Given the description of an element on the screen output the (x, y) to click on. 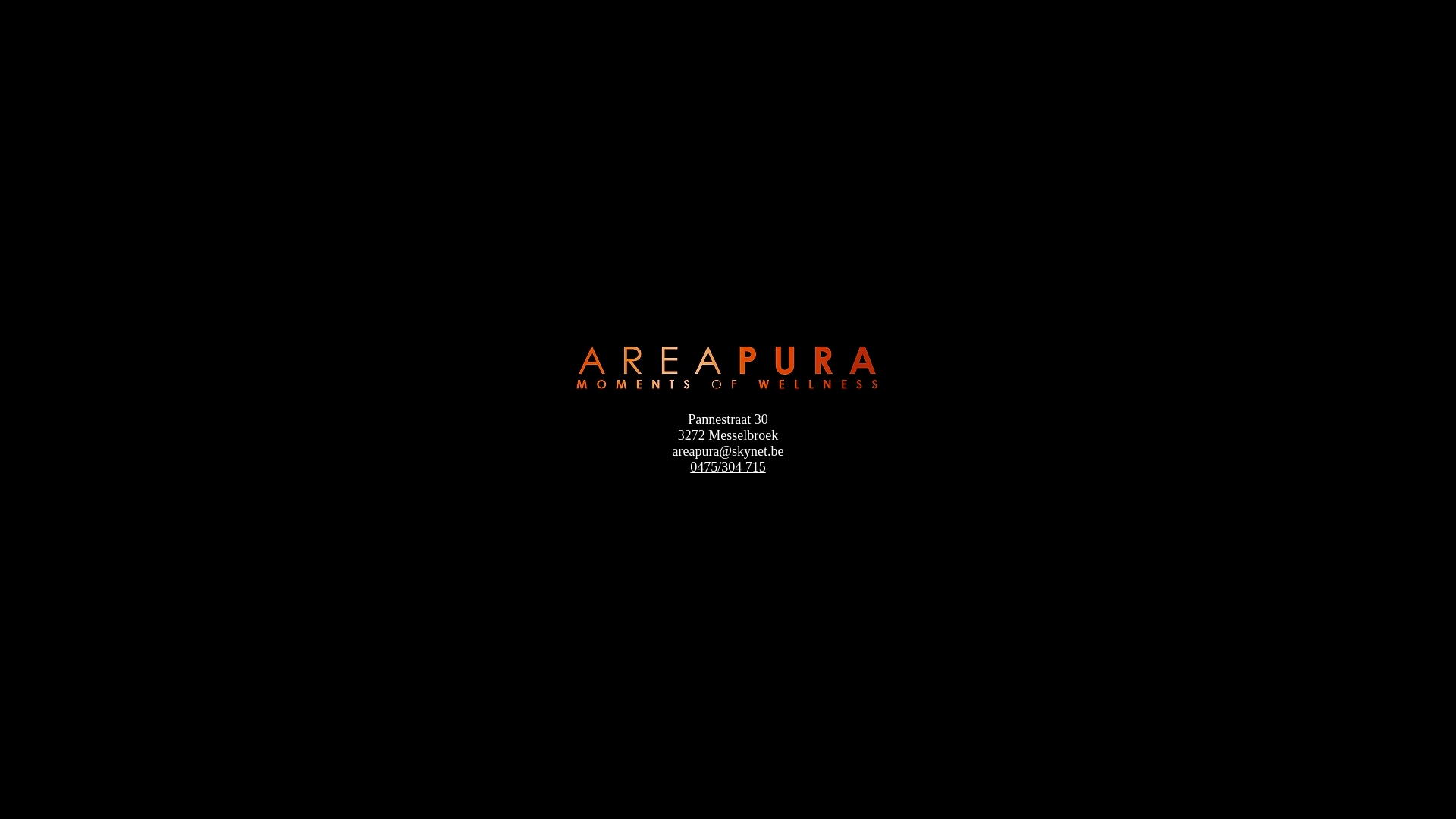
areapura@skynet.be Element type: text (727, 450)
0475/304 715 Element type: text (727, 466)
